Given the description of an element on the screen output the (x, y) to click on. 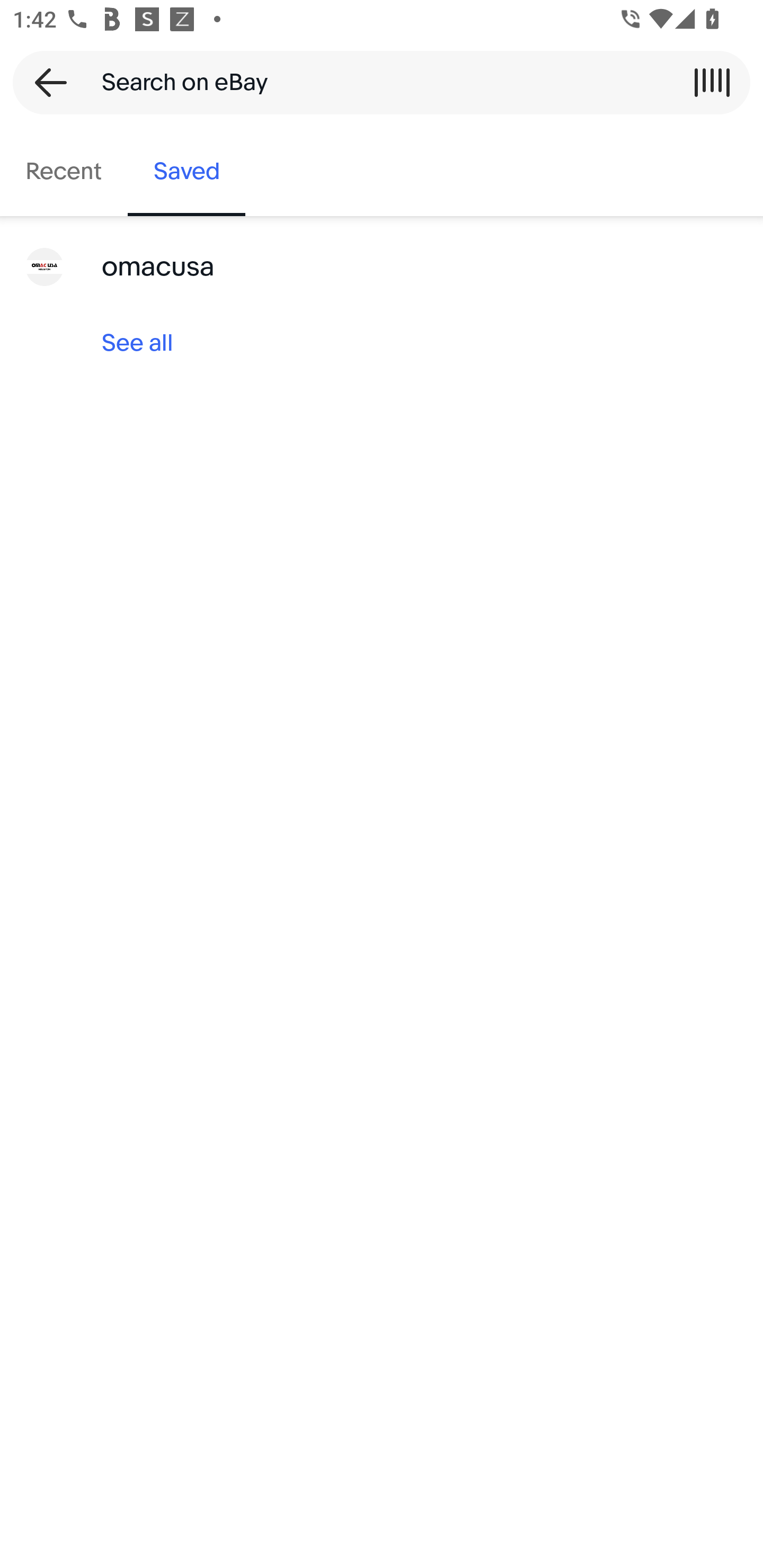
Back (44, 82)
Scan a barcode (711, 82)
Search on eBay (375, 82)
Recent, tab 1 of 2 Recent (63, 171)
User Search omacusa: omacusa (381, 266)
See all See all members (381, 343)
